Given the description of an element on the screen output the (x, y) to click on. 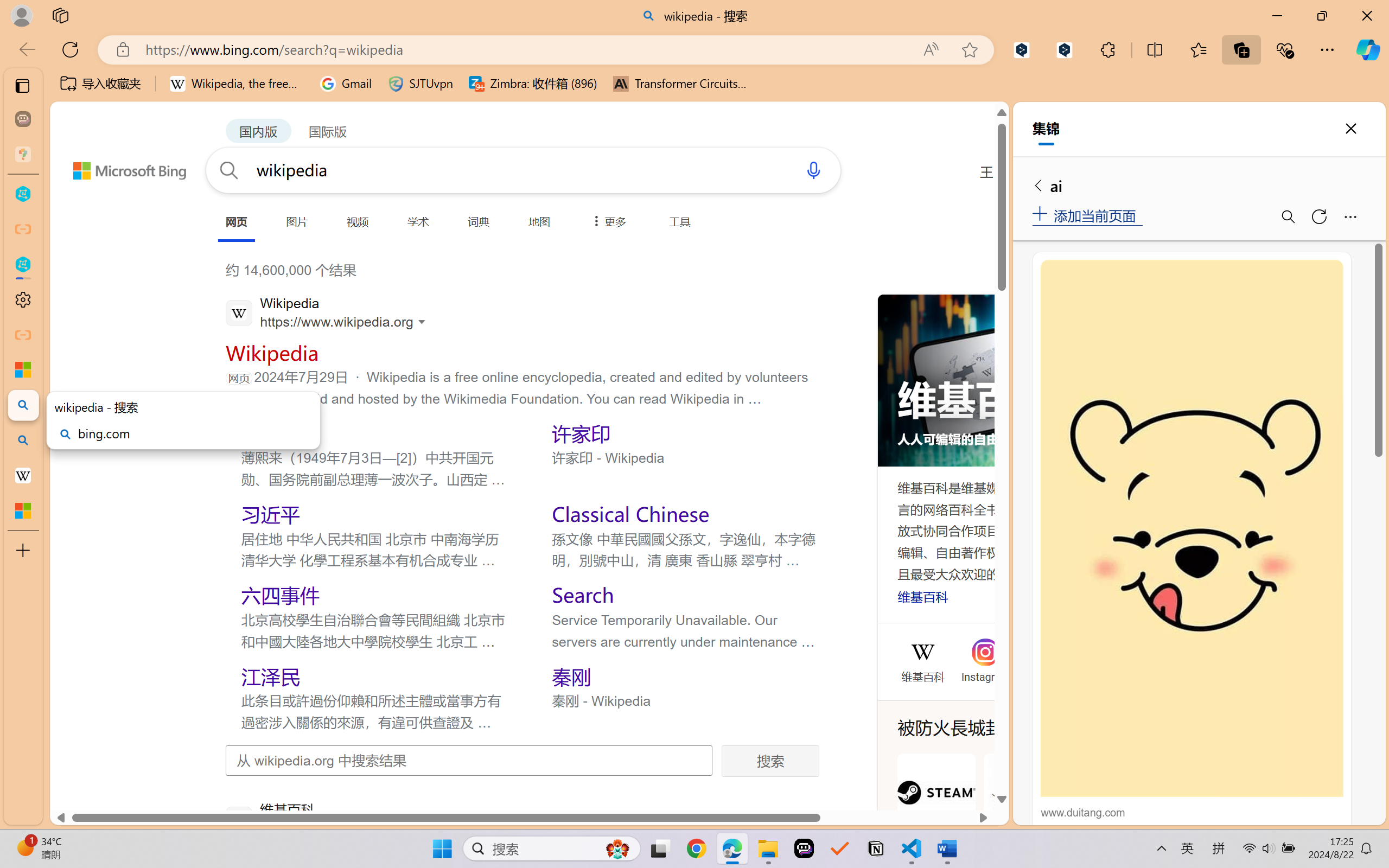
wangyian_webcrawler - DSW (22, 264)
Search (582, 595)
AutomationID: mfa_root (927, 739)
Dropdown Menu (606, 221)
